Given the description of an element on the screen output the (x, y) to click on. 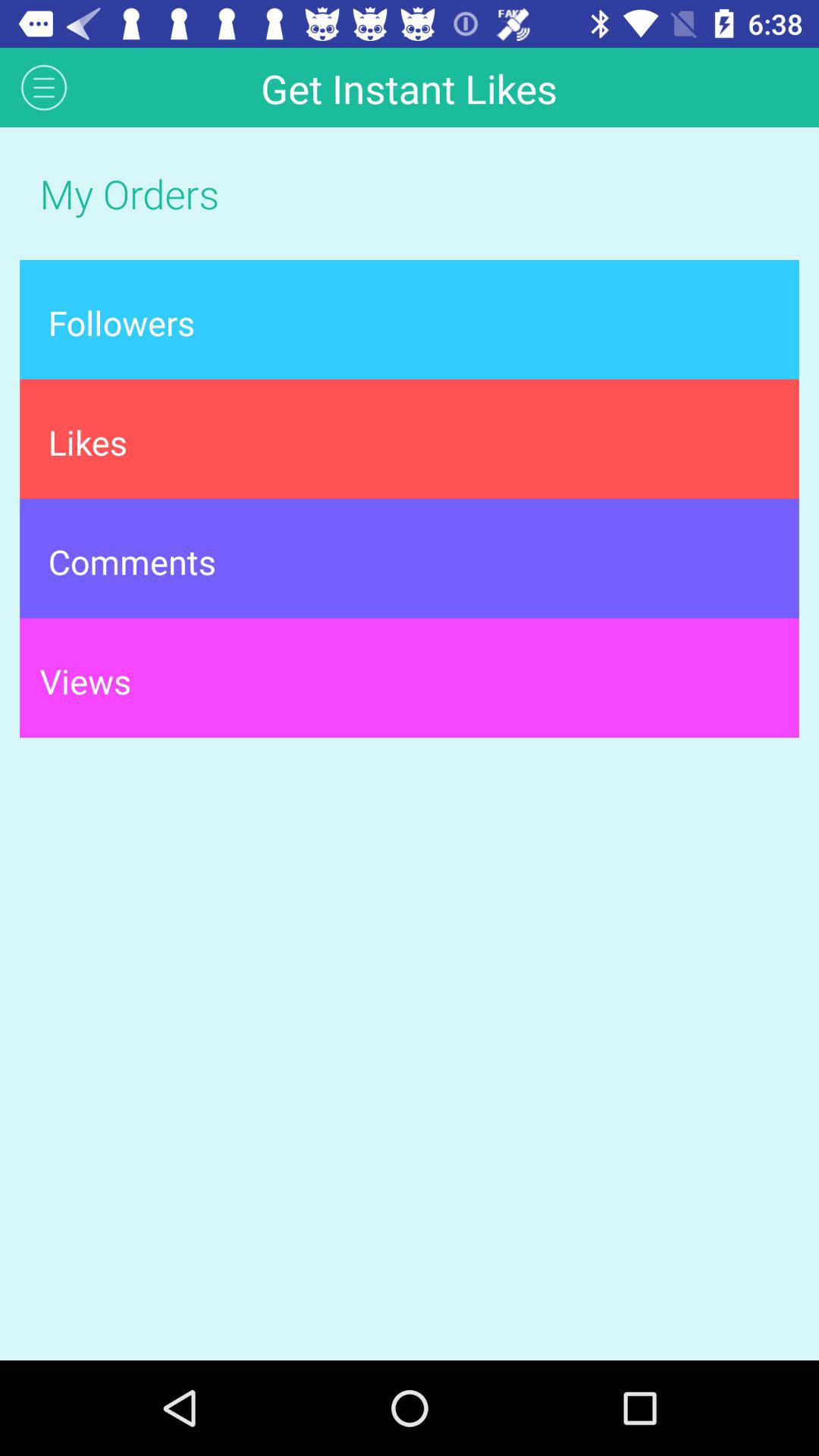
flip until the views item (409, 677)
